Given the description of an element on the screen output the (x, y) to click on. 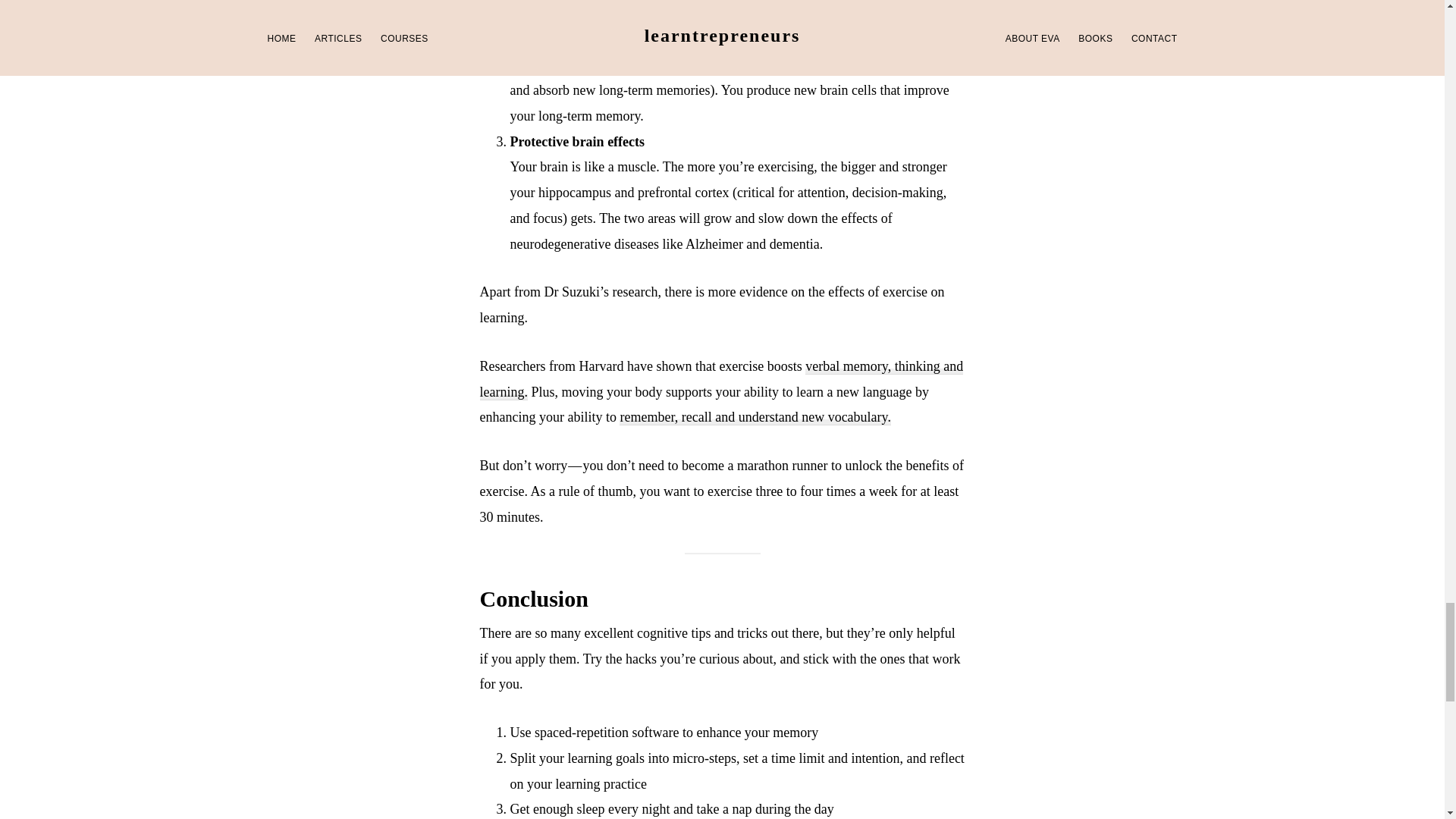
verbal memory, thinking and learning. (720, 379)
remember, recall and understand new vocabulary. (754, 417)
